Given the description of an element on the screen output the (x, y) to click on. 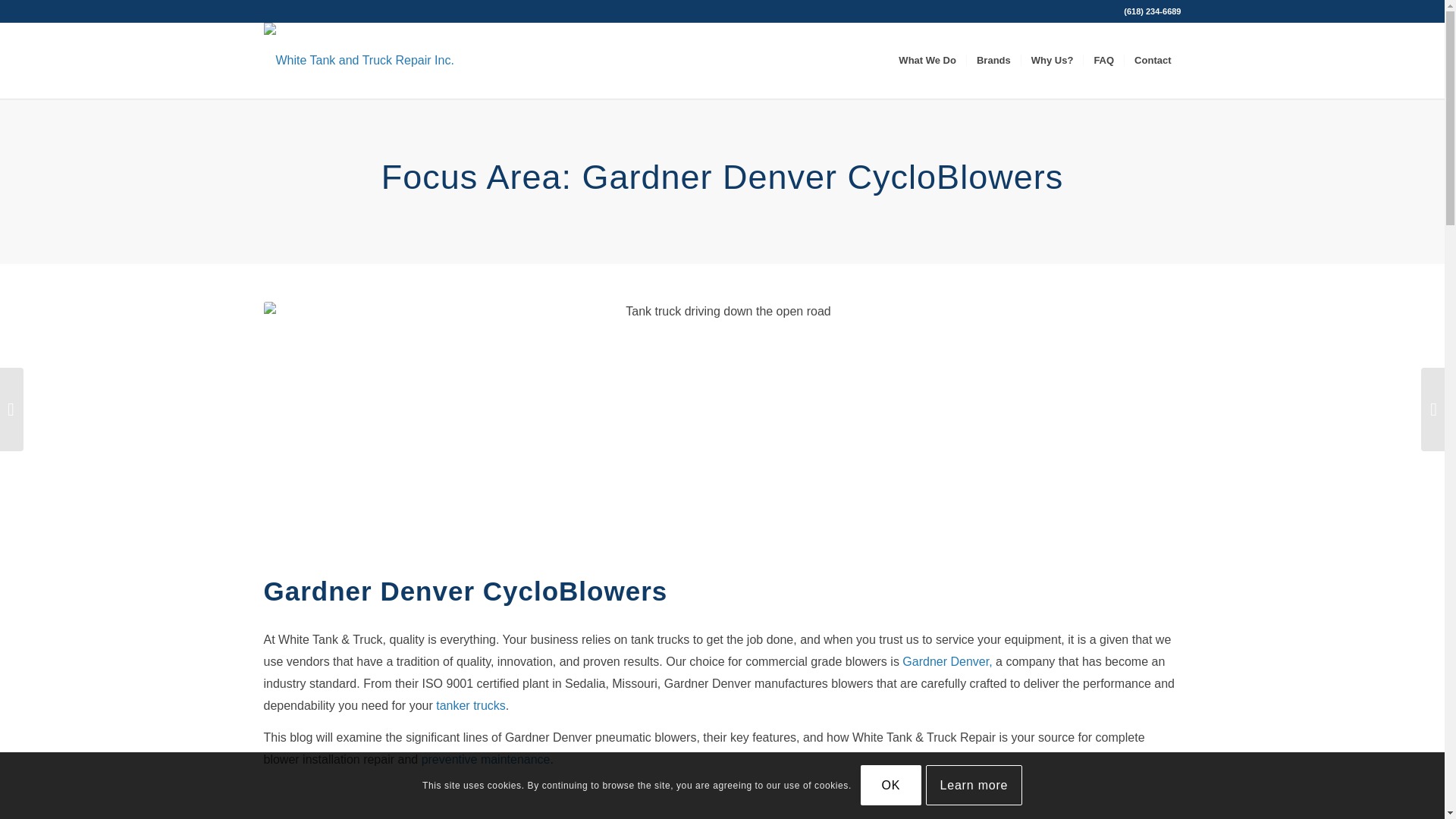
Brands (993, 60)
amg-hello-bar-phone (1152, 11)
Why Us? (1051, 60)
What We Do (927, 60)
